Given the description of an element on the screen output the (x, y) to click on. 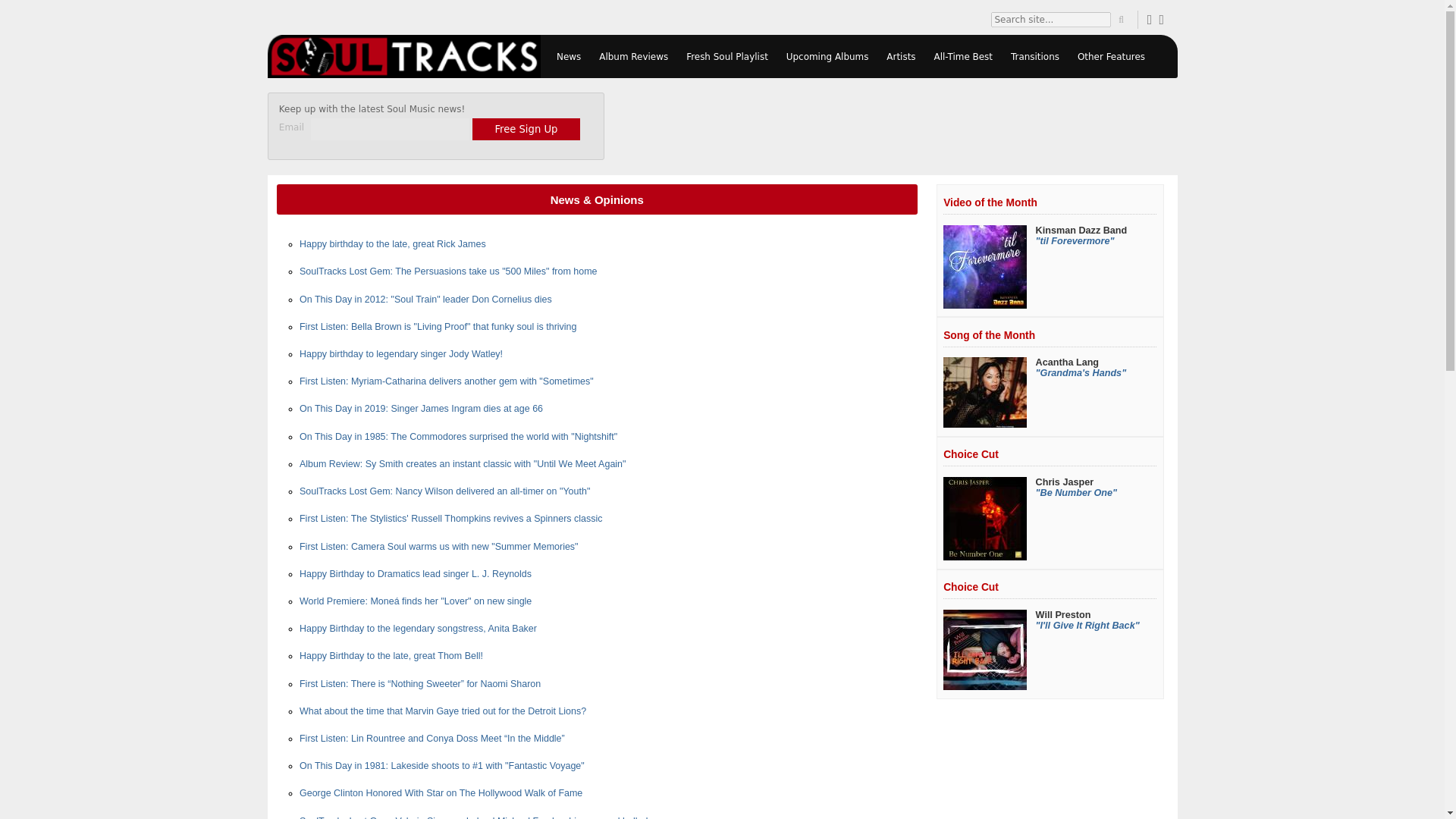
Advertisement (900, 126)
Happy birthday to the late, great Rick James (392, 244)
Happy birthday to legendary singer Jody Watley! (400, 353)
All-Time Best (962, 56)
On This Day in 2019: Singer James Ingram dies at age 66 (421, 408)
Other Features (1111, 56)
News (568, 56)
Free Sign Up (525, 128)
Happy Birthday to the late, great Thom Bell! (391, 655)
Fresh Soul Playlist (727, 56)
